Given the description of an element on the screen output the (x, y) to click on. 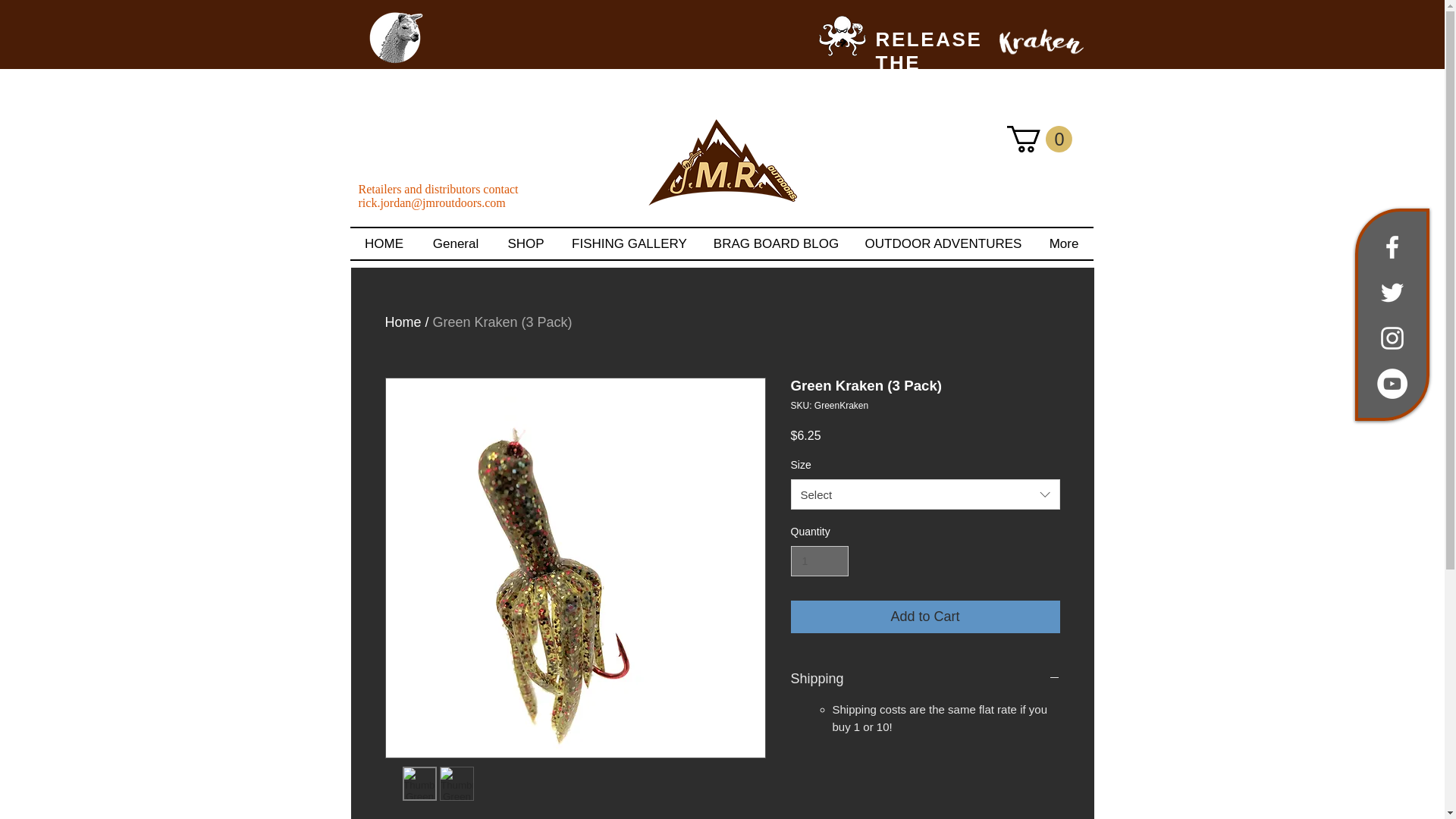
Add to Cart (924, 616)
1 (818, 561)
FISHING GALLERY (628, 243)
0 (1039, 139)
Kraken Octupos.png (841, 33)
Select (924, 494)
Kraken word PNG white.png (1039, 41)
SHOP (525, 243)
Home (403, 322)
BRAG BOARD BLOG (775, 243)
